Given the description of an element on the screen output the (x, y) to click on. 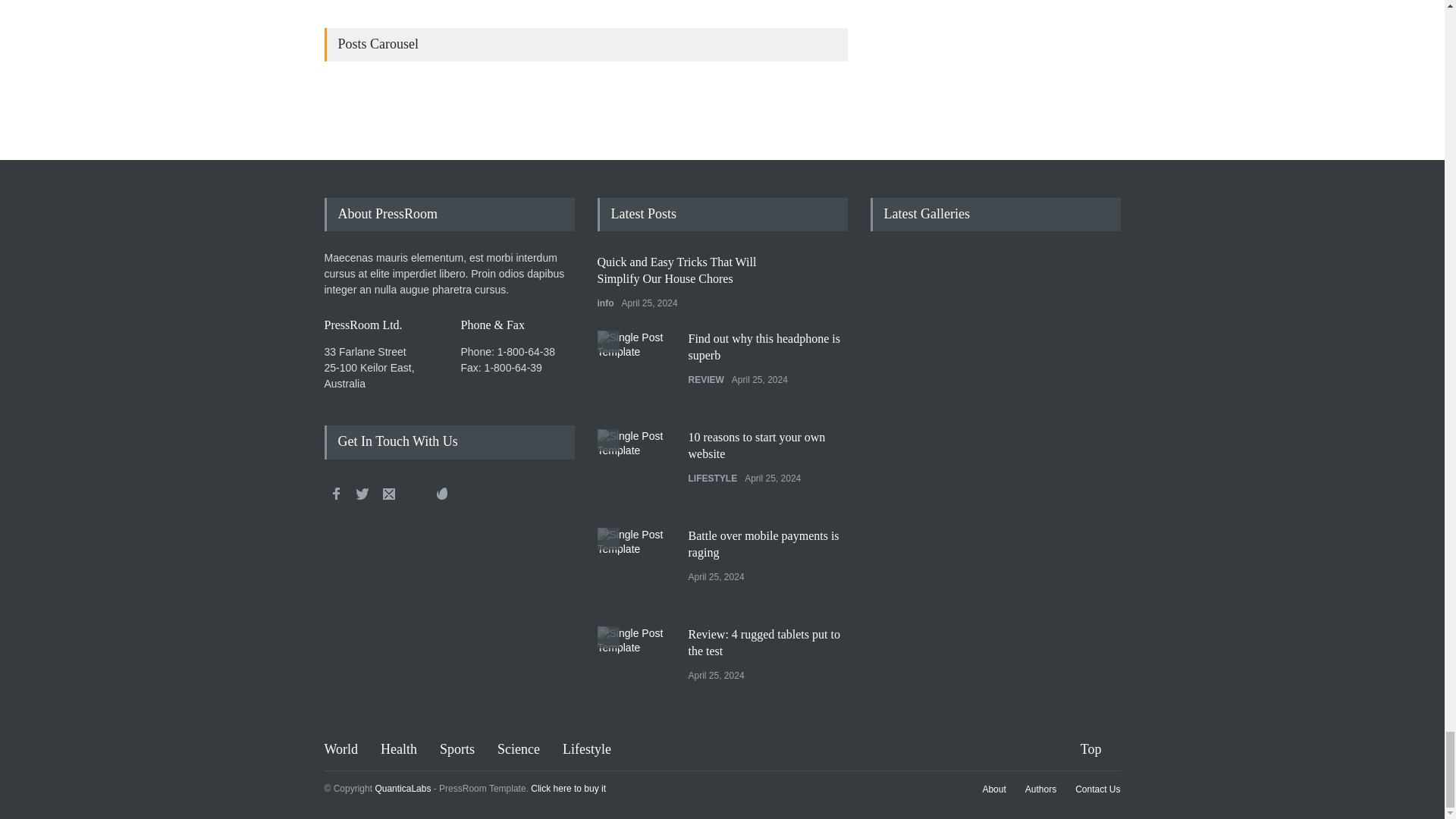
Top (1100, 749)
